Given the description of an element on the screen output the (x, y) to click on. 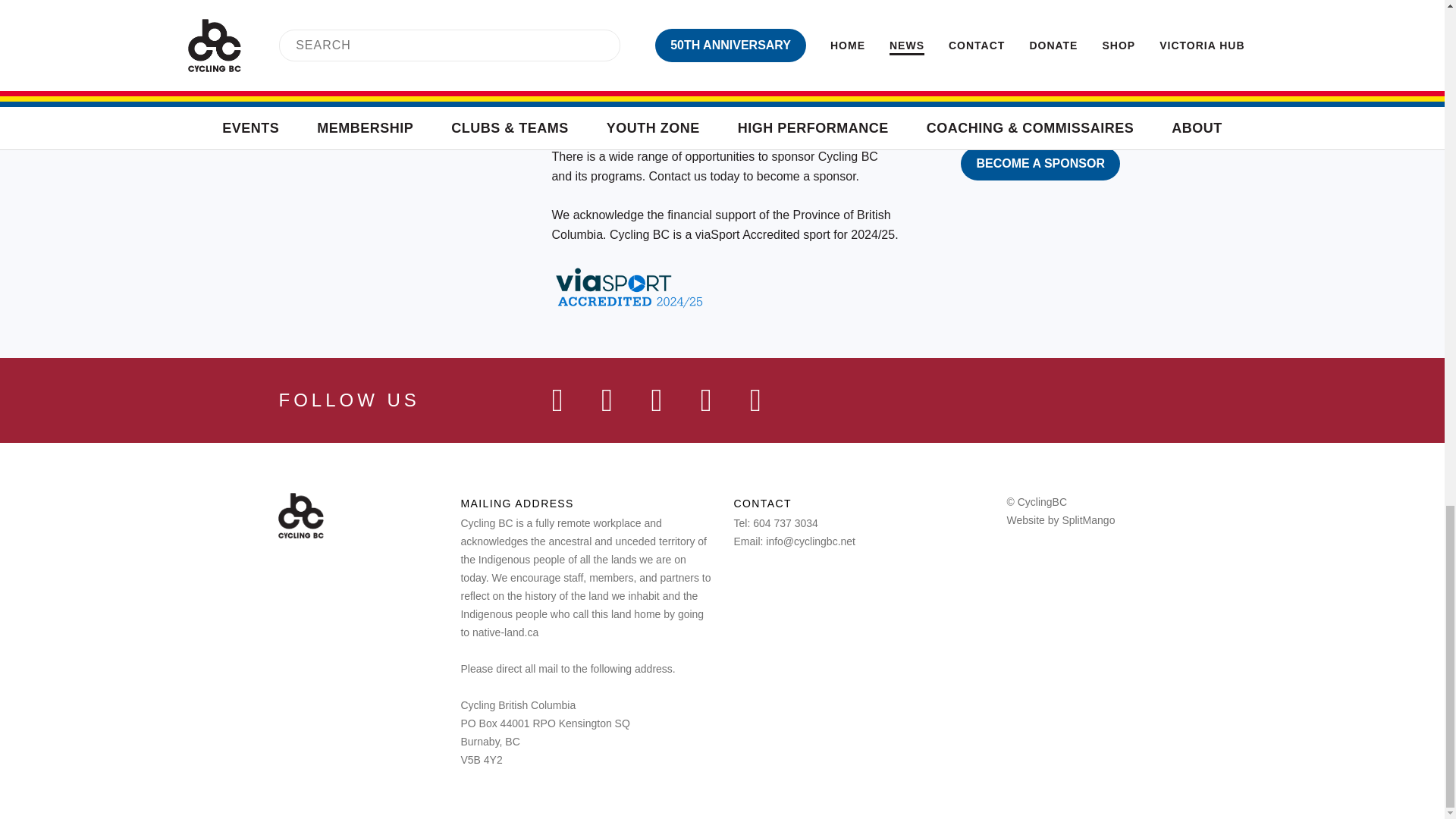
Interpodia logo (1037, 7)
cbc-logo-2x (300, 515)
Gallagher-Logo (898, 9)
cycling-canada-logo-long (742, 71)
bc-logo (836, 71)
jakroo-logo (759, 3)
logo-viasport-min (609, 71)
BCCC-short-logo-2020-web (947, 72)
